Given the description of an element on the screen output the (x, y) to click on. 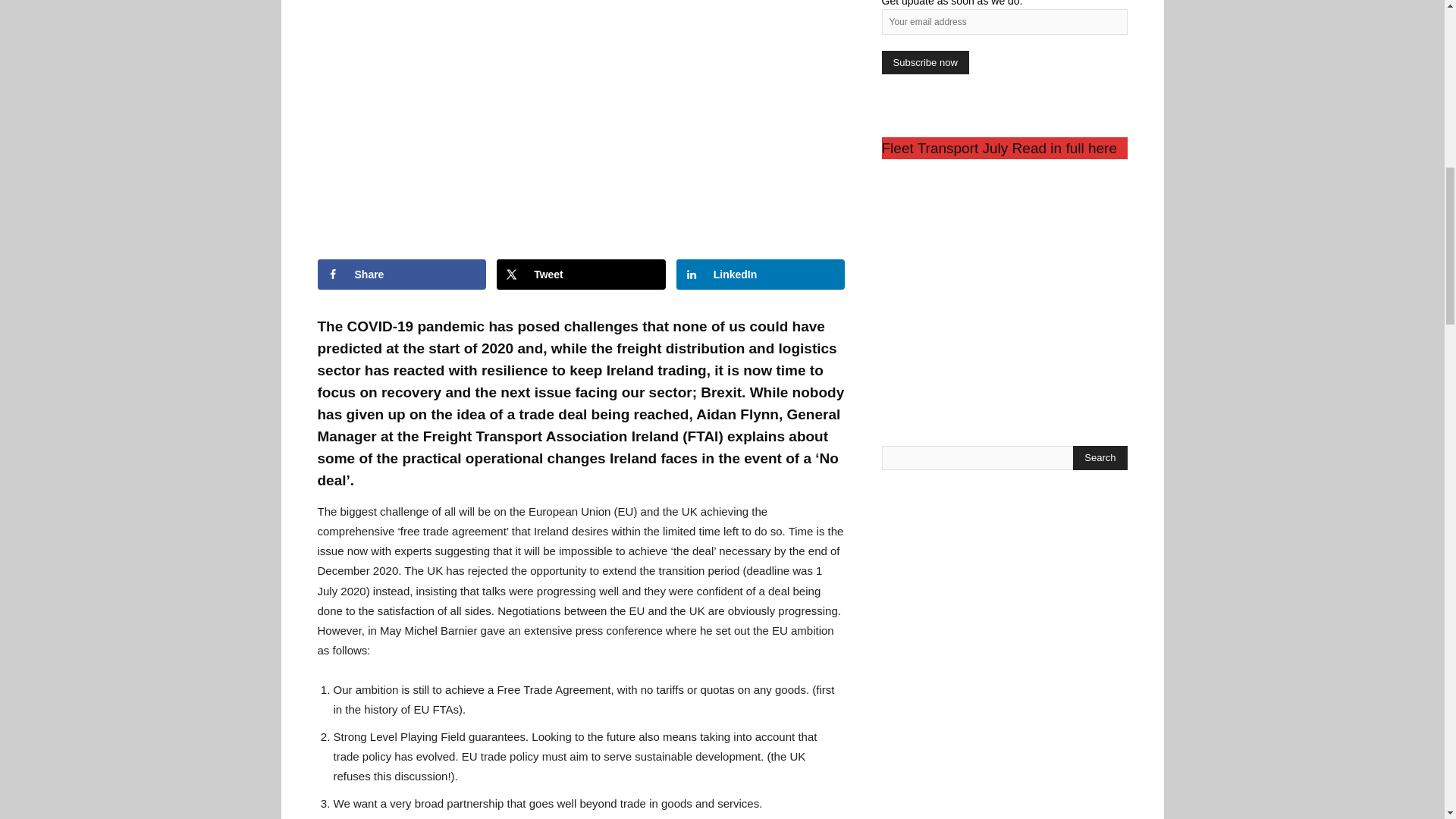
Search (1099, 457)
Share on X (580, 274)
Subscribe now (924, 62)
Share on Facebook (401, 274)
Share on LinkedIn (761, 274)
